Given the description of an element on the screen output the (x, y) to click on. 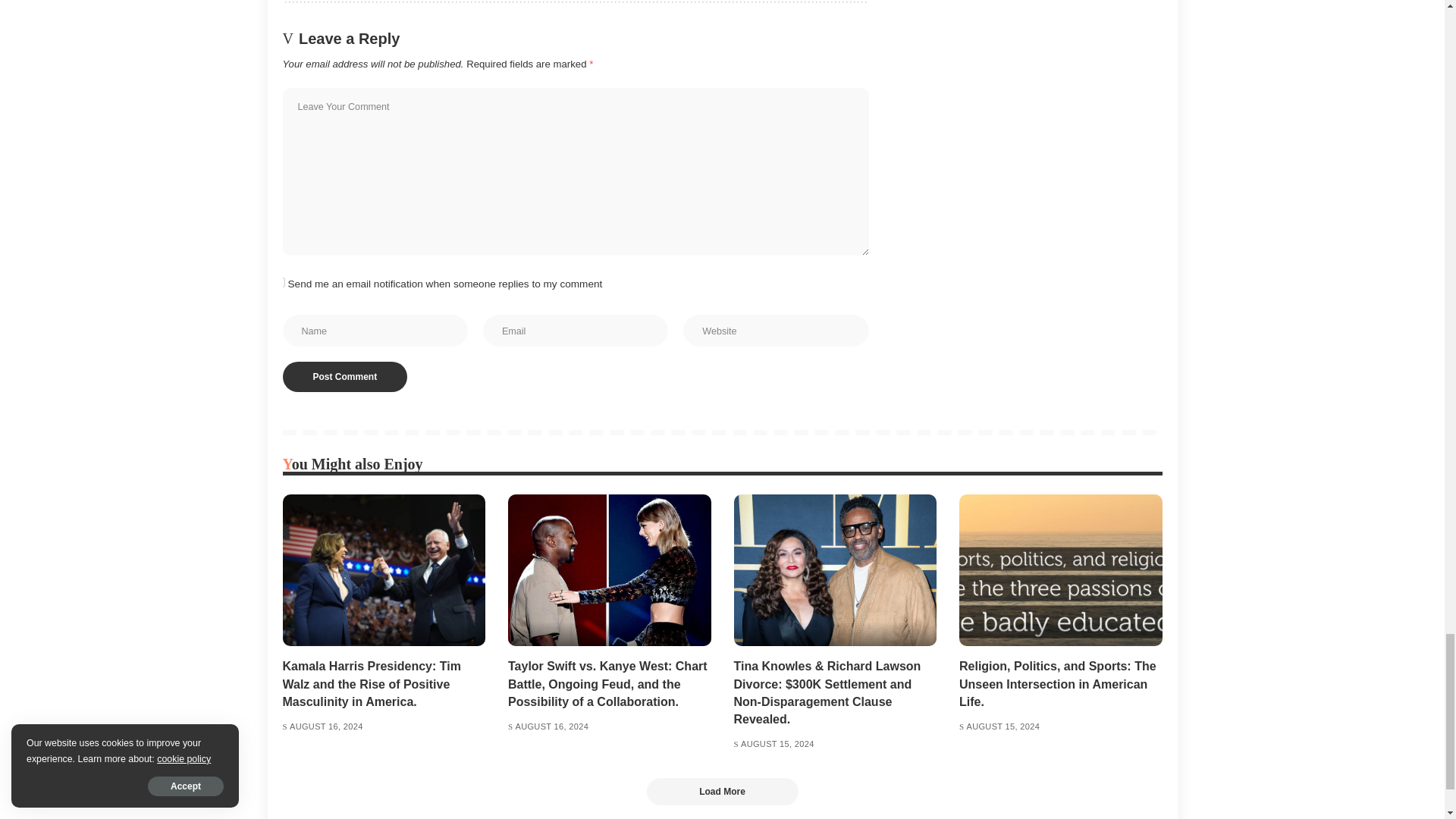
1 (279, 282)
2024-08-15T23:21:05-04:00 (777, 744)
2024-08-15T20:48:26-04:00 (1002, 726)
Post Comment (344, 376)
2024-08-16T01:19:35-04:00 (325, 726)
2024-08-16T00:17:16-04:00 (551, 726)
